Given the description of an element on the screen output the (x, y) to click on. 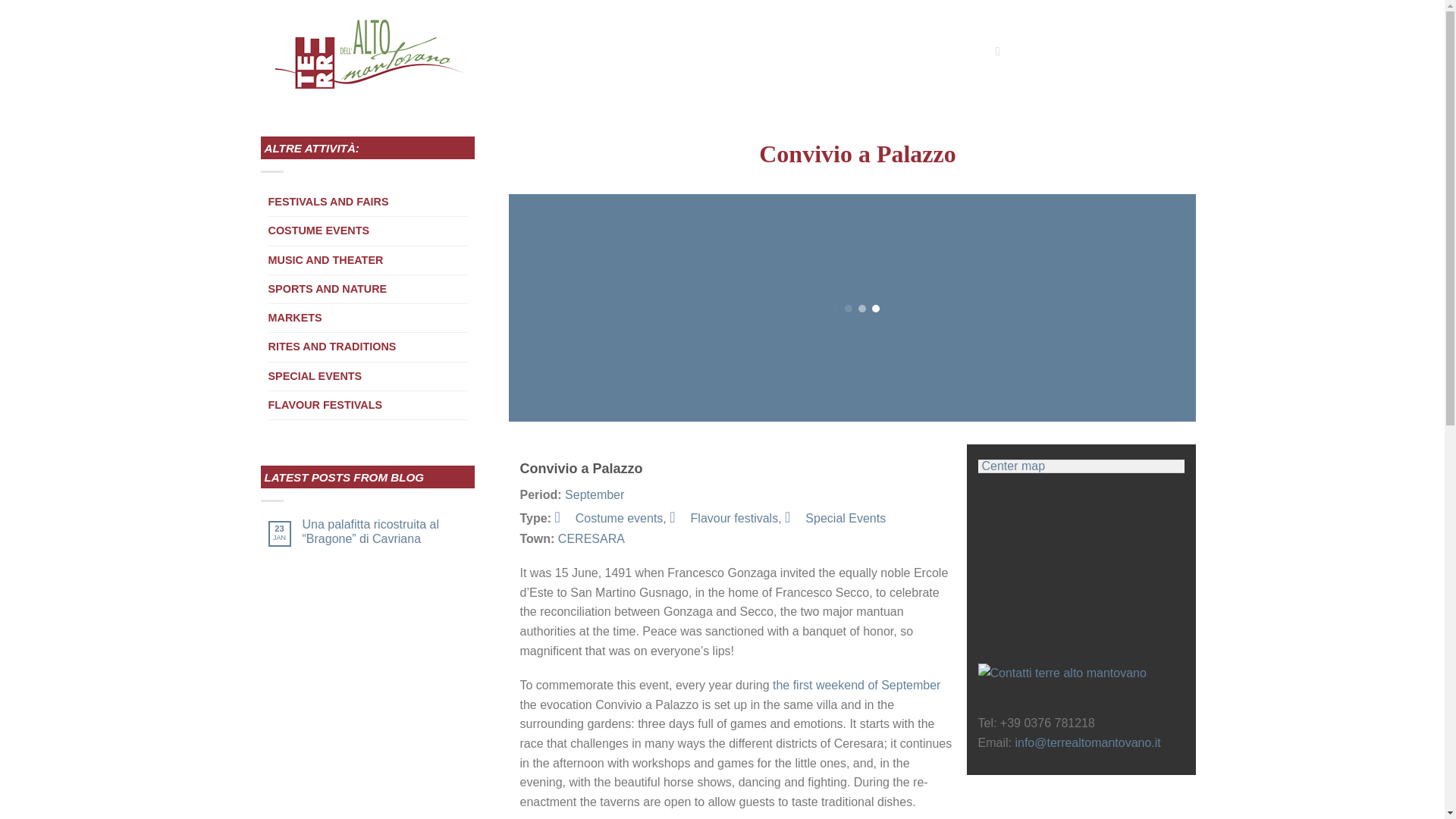
THINGS TO SEE (639, 51)
THINGS TO DO (541, 51)
